Given the description of an element on the screen output the (x, y) to click on. 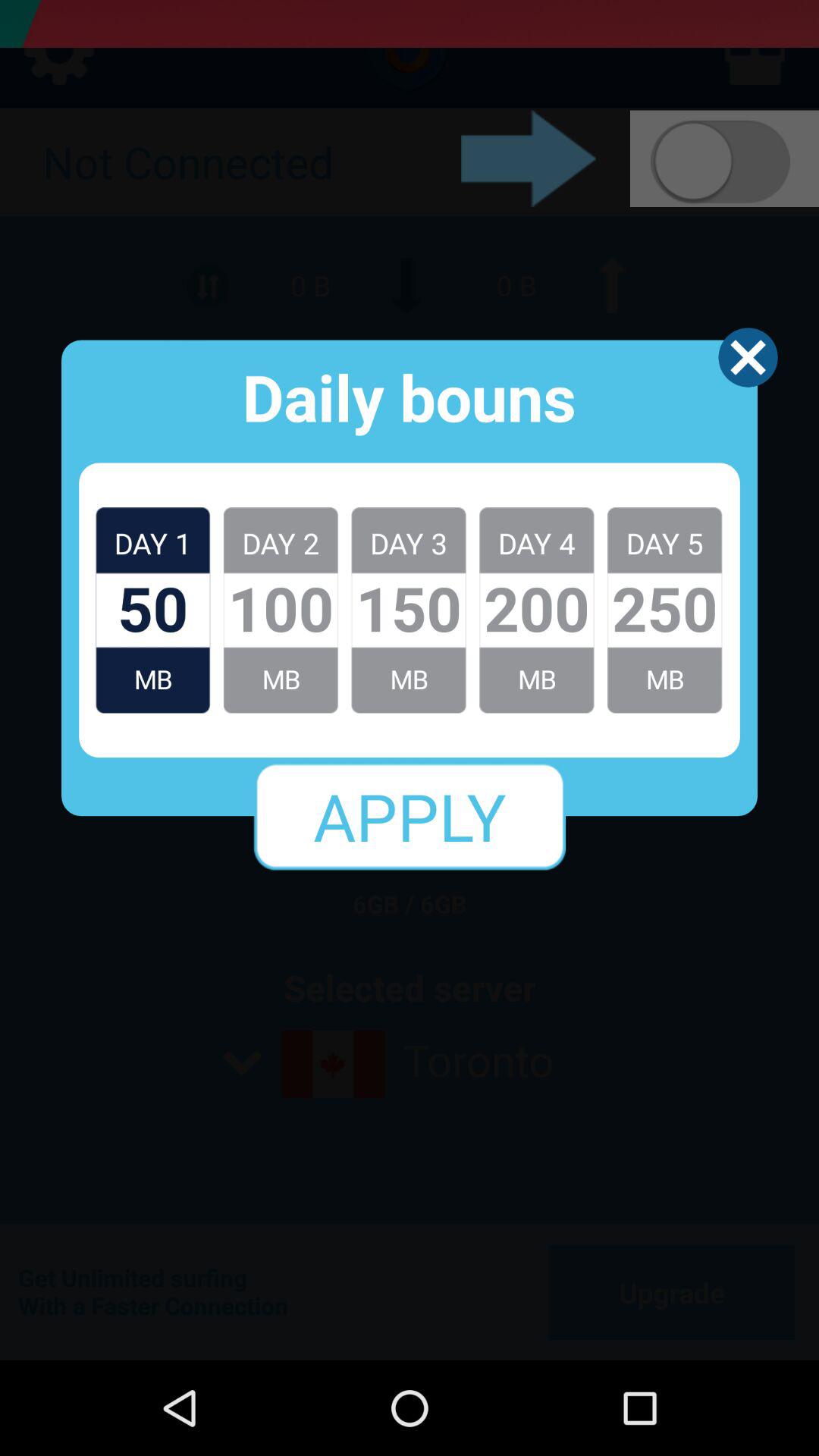
open the icon at the top right corner (747, 357)
